Given the description of an element on the screen output the (x, y) to click on. 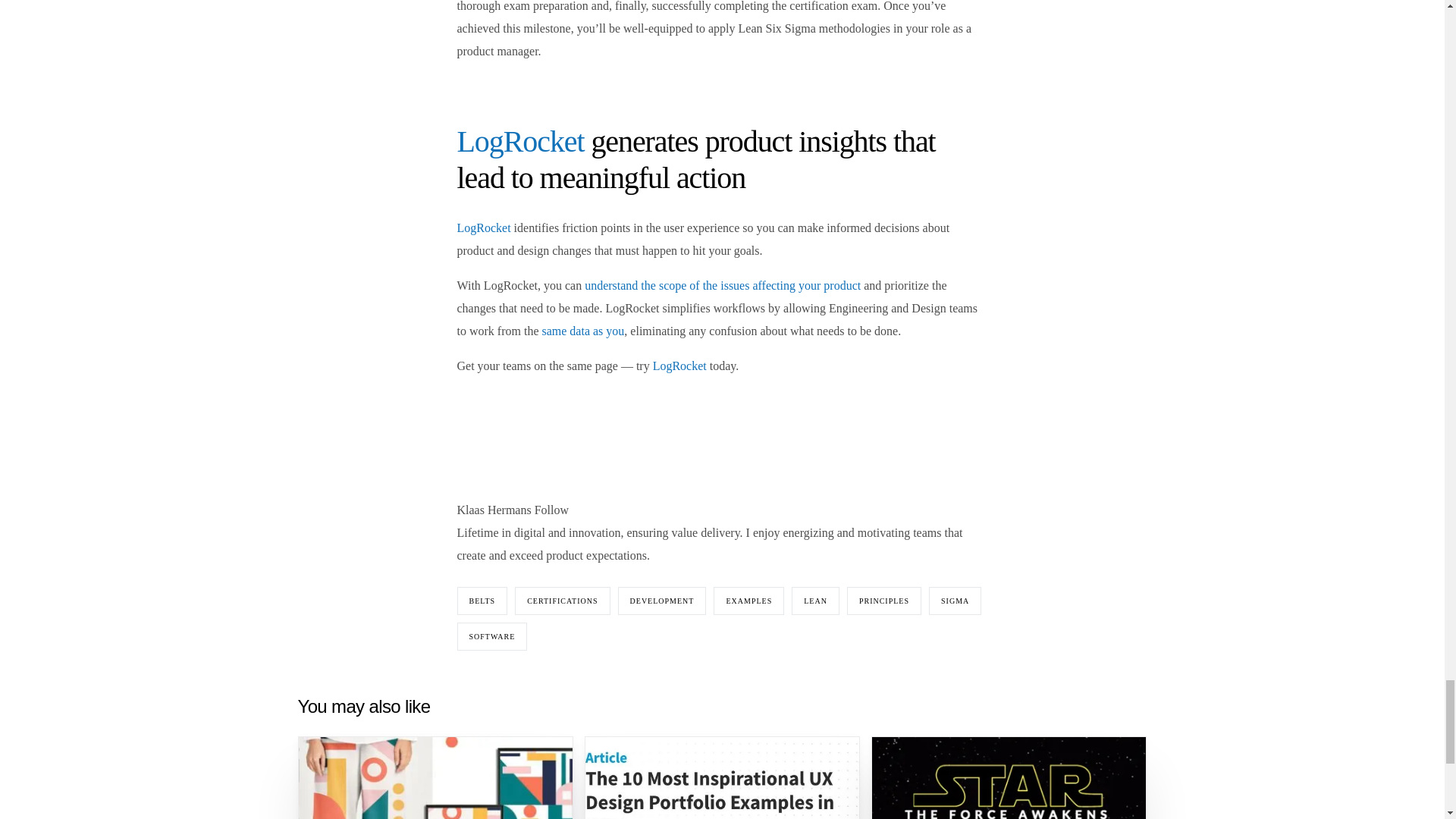
LogRocket (520, 141)
